Given the description of an element on the screen output the (x, y) to click on. 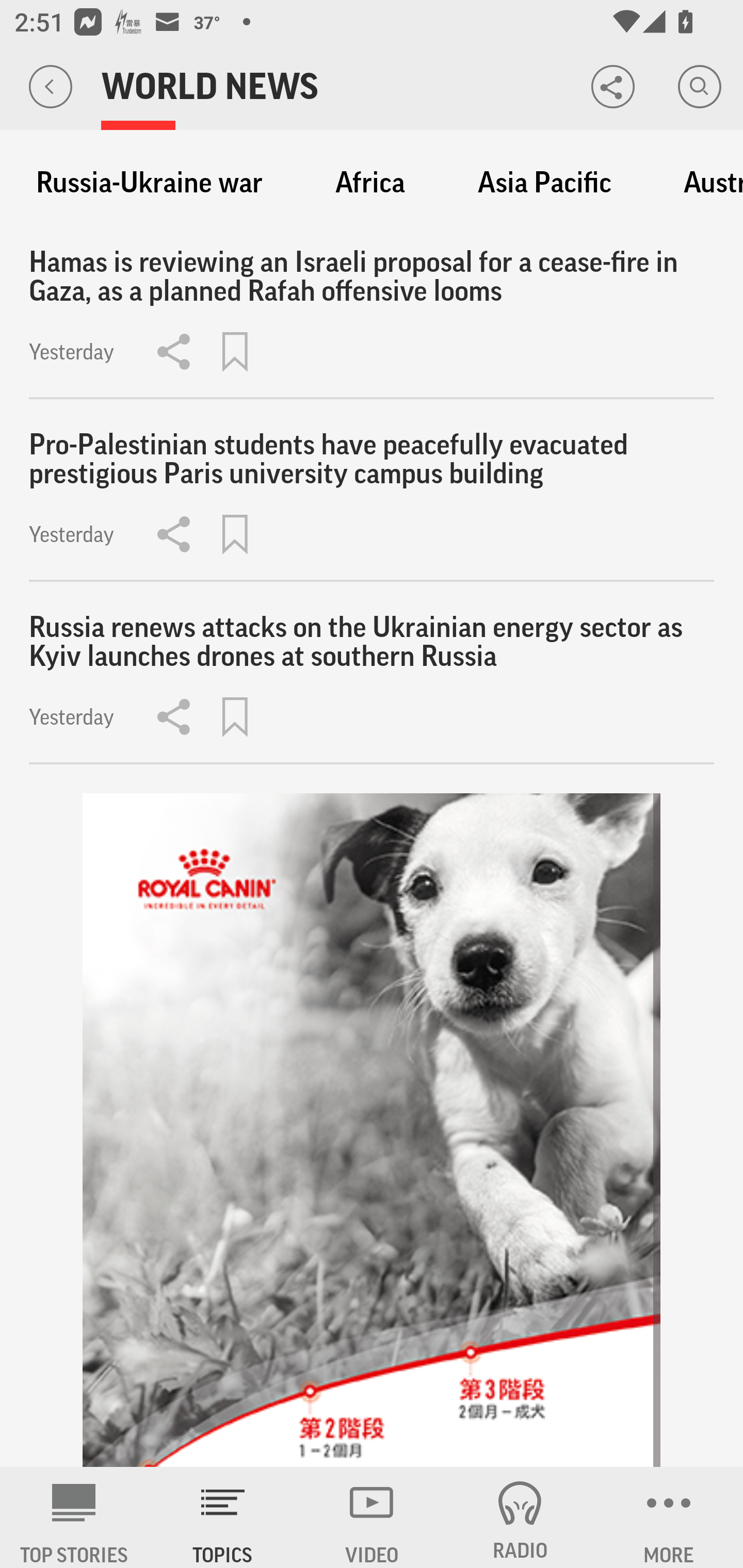
Russia-Ukraine war (148, 182)
Africa (370, 182)
Asia Pacific (544, 182)
314l1s1f_320x480 (371, 1130)
AP News TOP STORIES (74, 1517)
TOPICS (222, 1517)
VIDEO (371, 1517)
RADIO (519, 1517)
MORE (668, 1517)
